Given the description of an element on the screen output the (x, y) to click on. 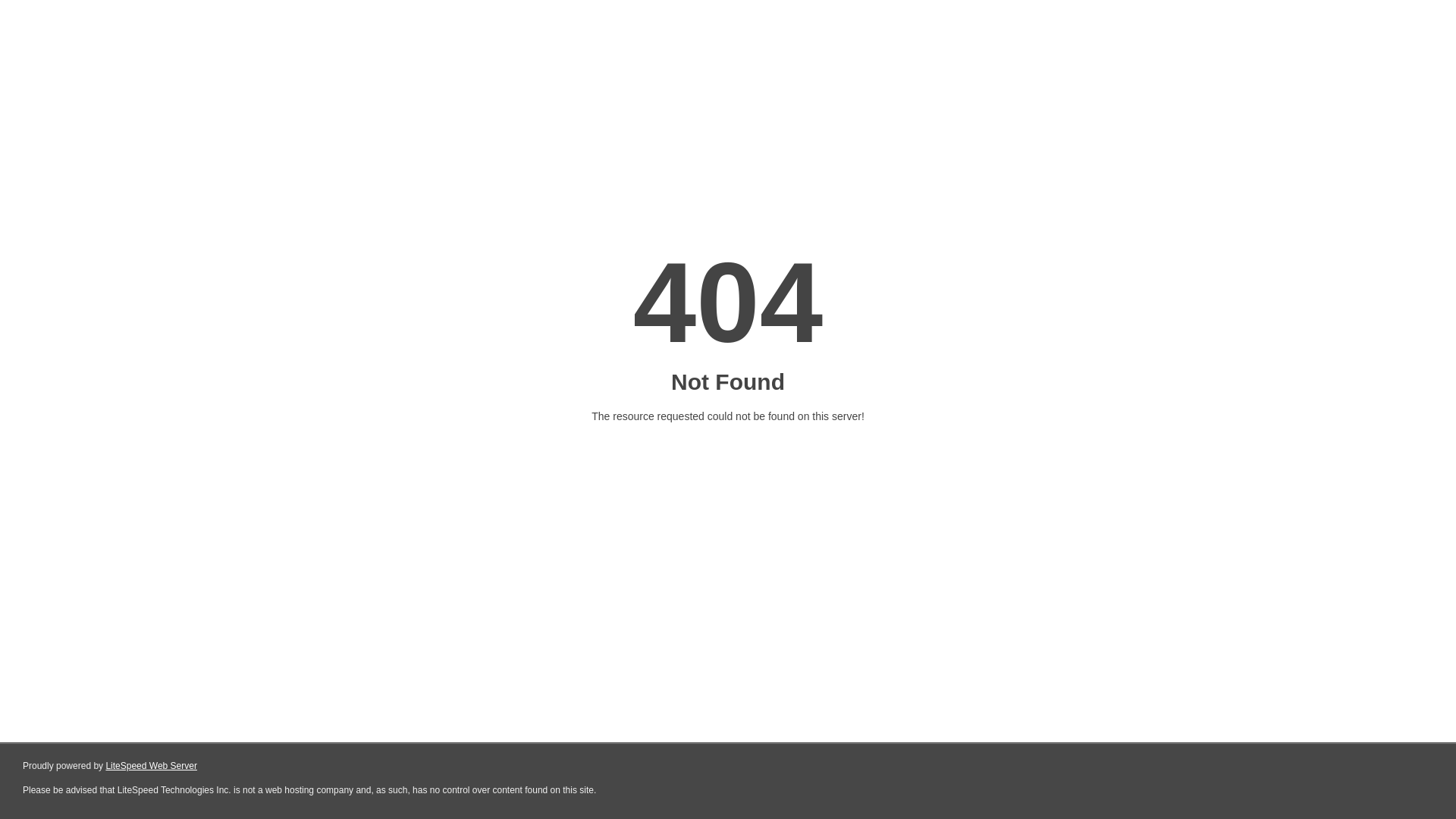
LiteSpeed Web Server Element type: text (151, 765)
